Given the description of an element on the screen output the (x, y) to click on. 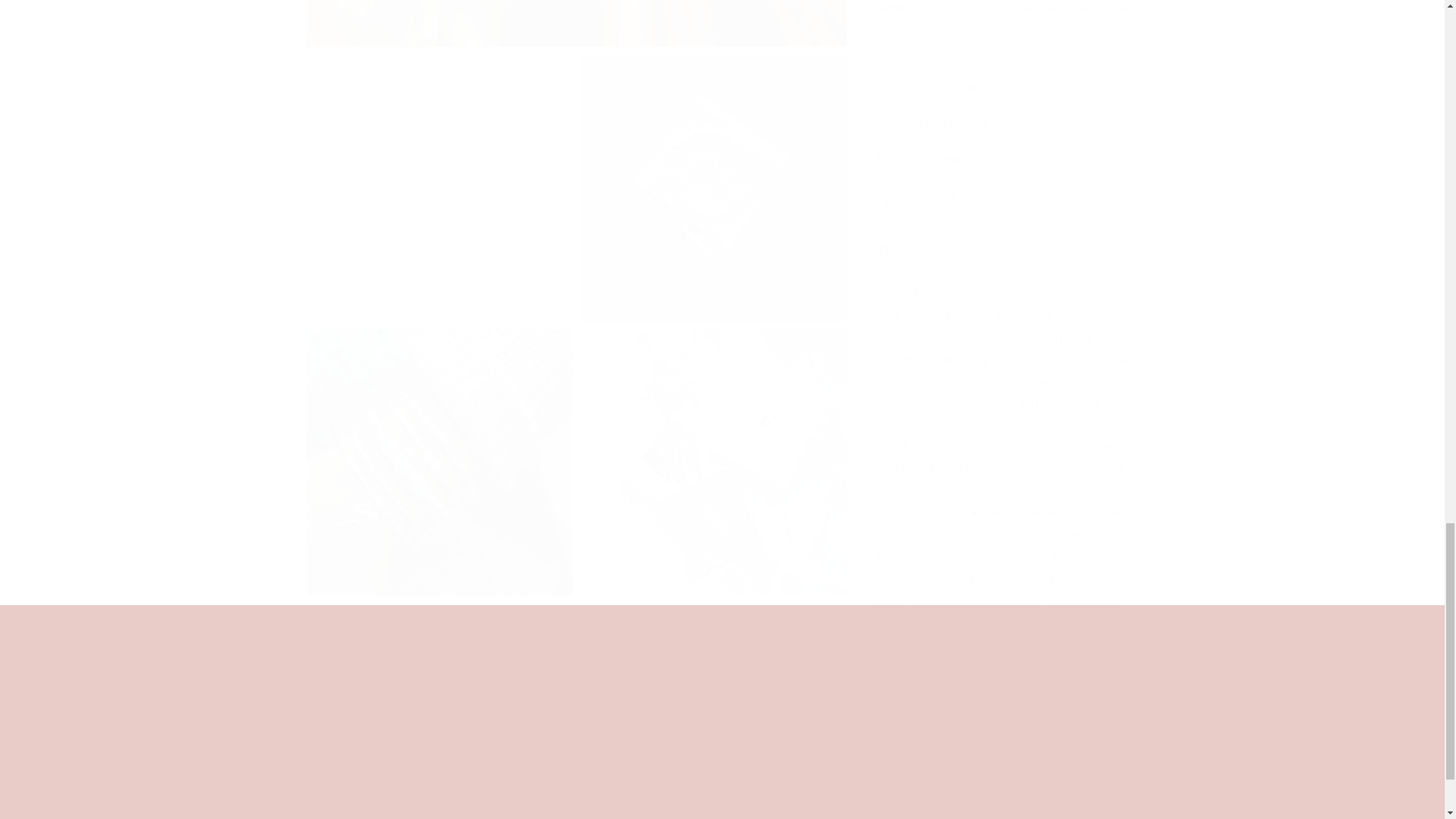
Open media 4 in modal (438, 172)
Open media 5 in modal (713, 172)
Open media 6 in modal (438, 446)
Open media 7 in modal (713, 446)
Play video (721, 681)
